Given the description of an element on the screen output the (x, y) to click on. 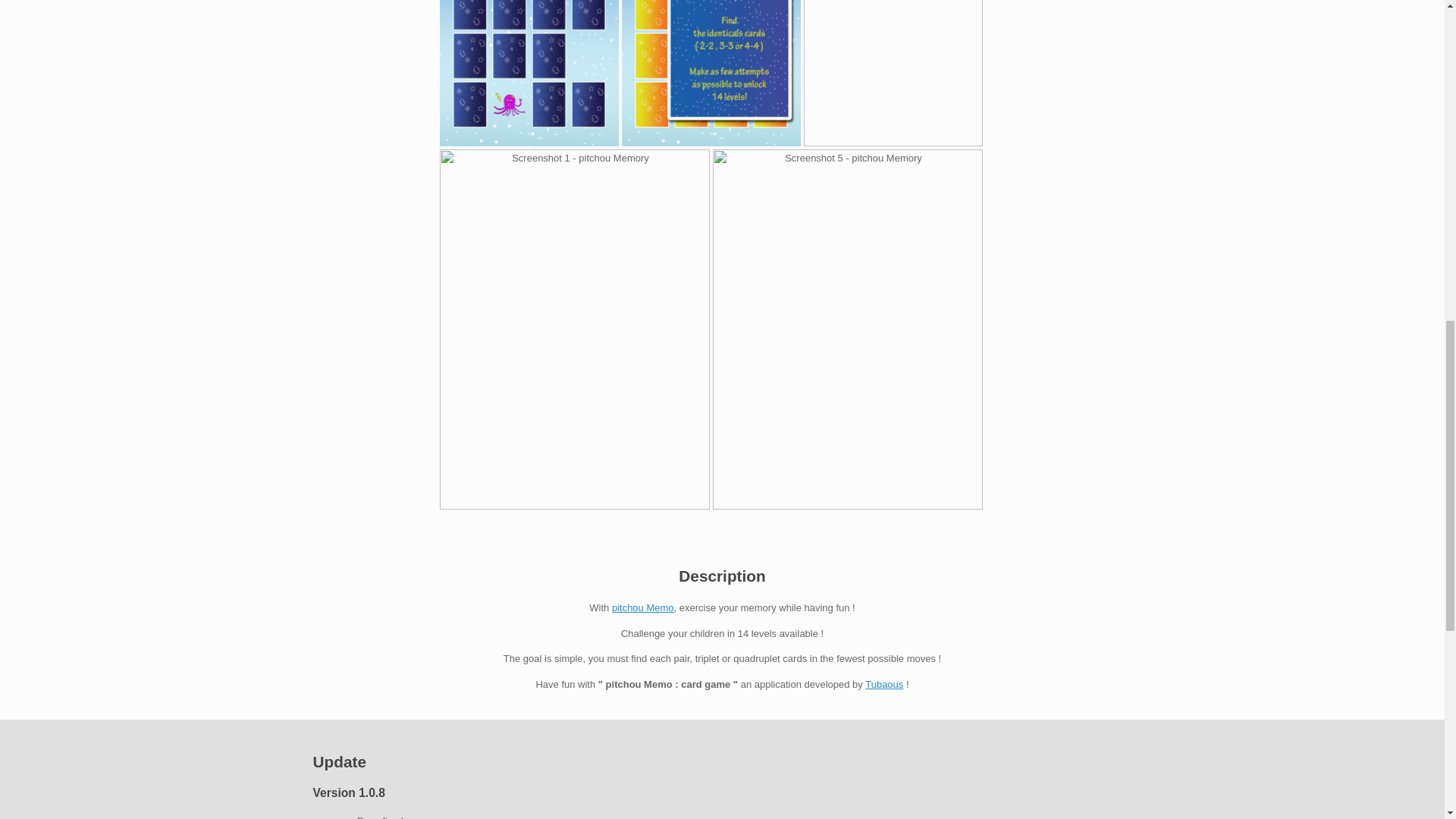
Accueil (883, 684)
pitchou Memo (642, 607)
Screenshot 4 - pitchou Memory (528, 73)
pitchou Memo (642, 607)
Tubaous (883, 684)
Screenshot 3 - pitchou Memory (710, 73)
Screenshot 2 - pitchou Memory (892, 73)
